Given the description of an element on the screen output the (x, y) to click on. 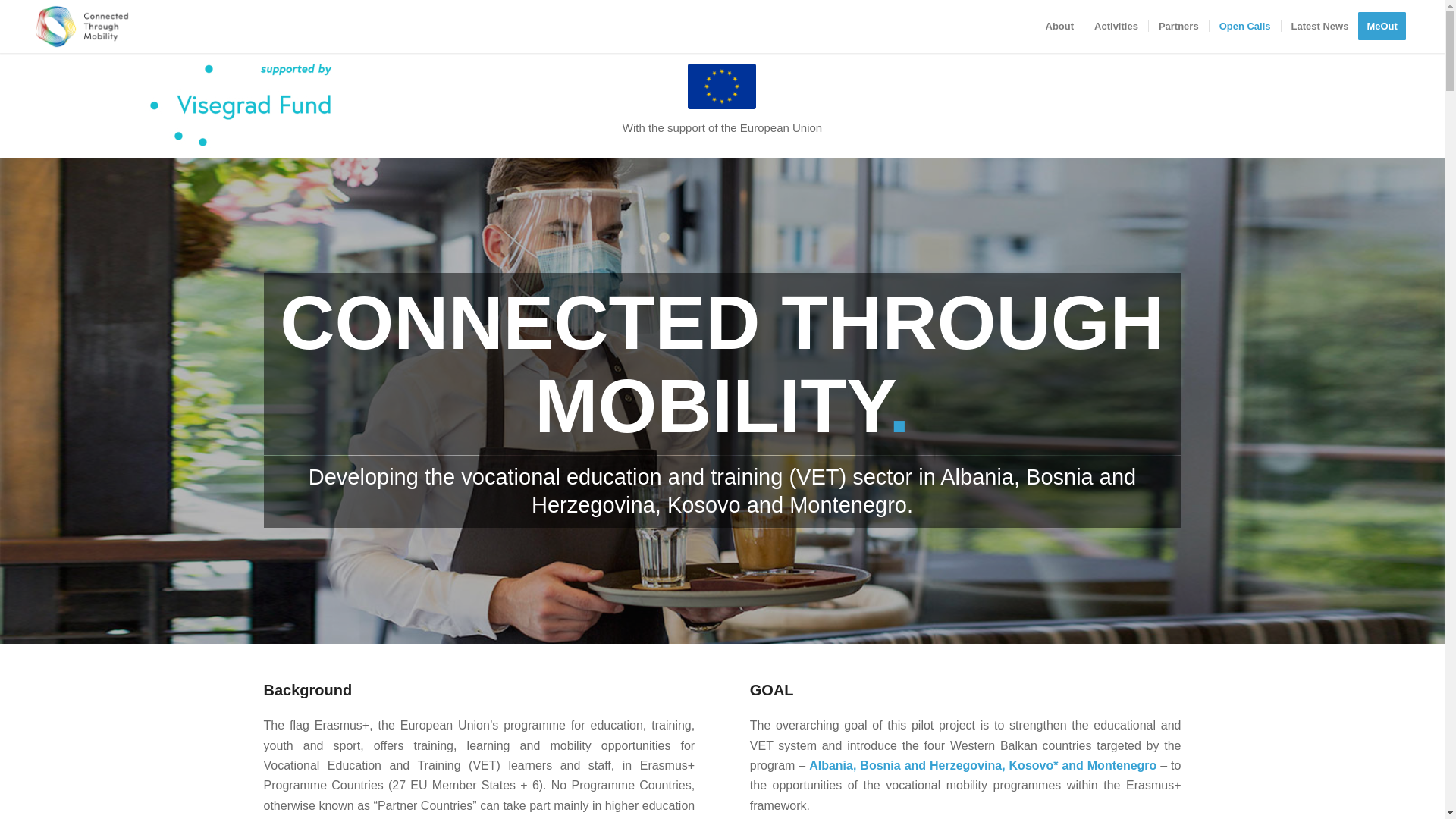
Latest News (1319, 26)
Open Calls (1244, 26)
Activities (1115, 26)
About (1059, 26)
MeOut (1386, 26)
Partners (1178, 26)
